Given the description of an element on the screen output the (x, y) to click on. 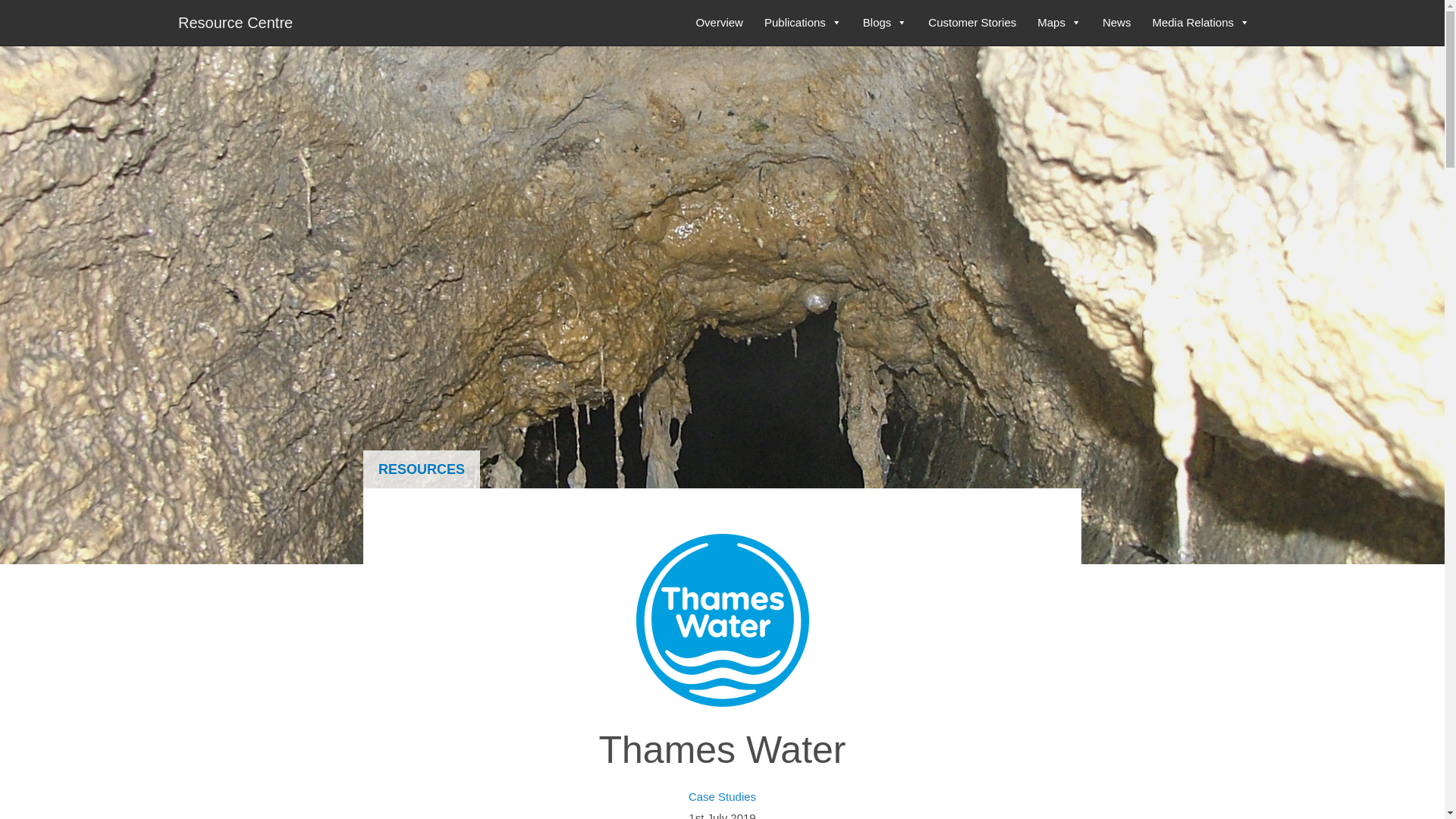
Customer Stories (971, 22)
Media Relations (1200, 22)
Resource Centre (234, 21)
Blogs (884, 22)
News (1116, 22)
Overview (719, 22)
Case Studies (721, 796)
Maps (1059, 22)
Publications (802, 22)
